Given the description of an element on the screen output the (x, y) to click on. 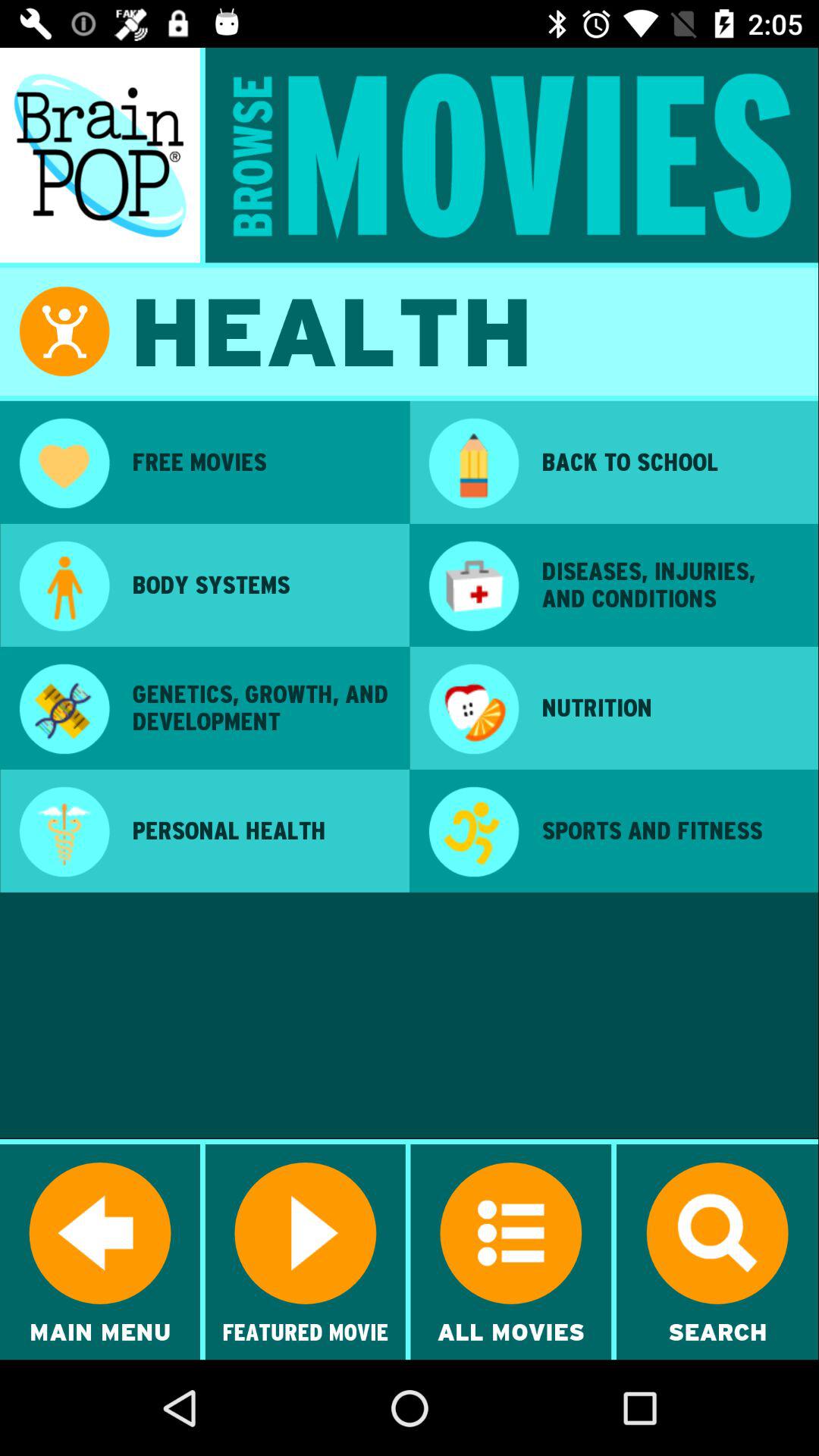
press the app at the top right corner (670, 462)
